Given the description of an element on the screen output the (x, y) to click on. 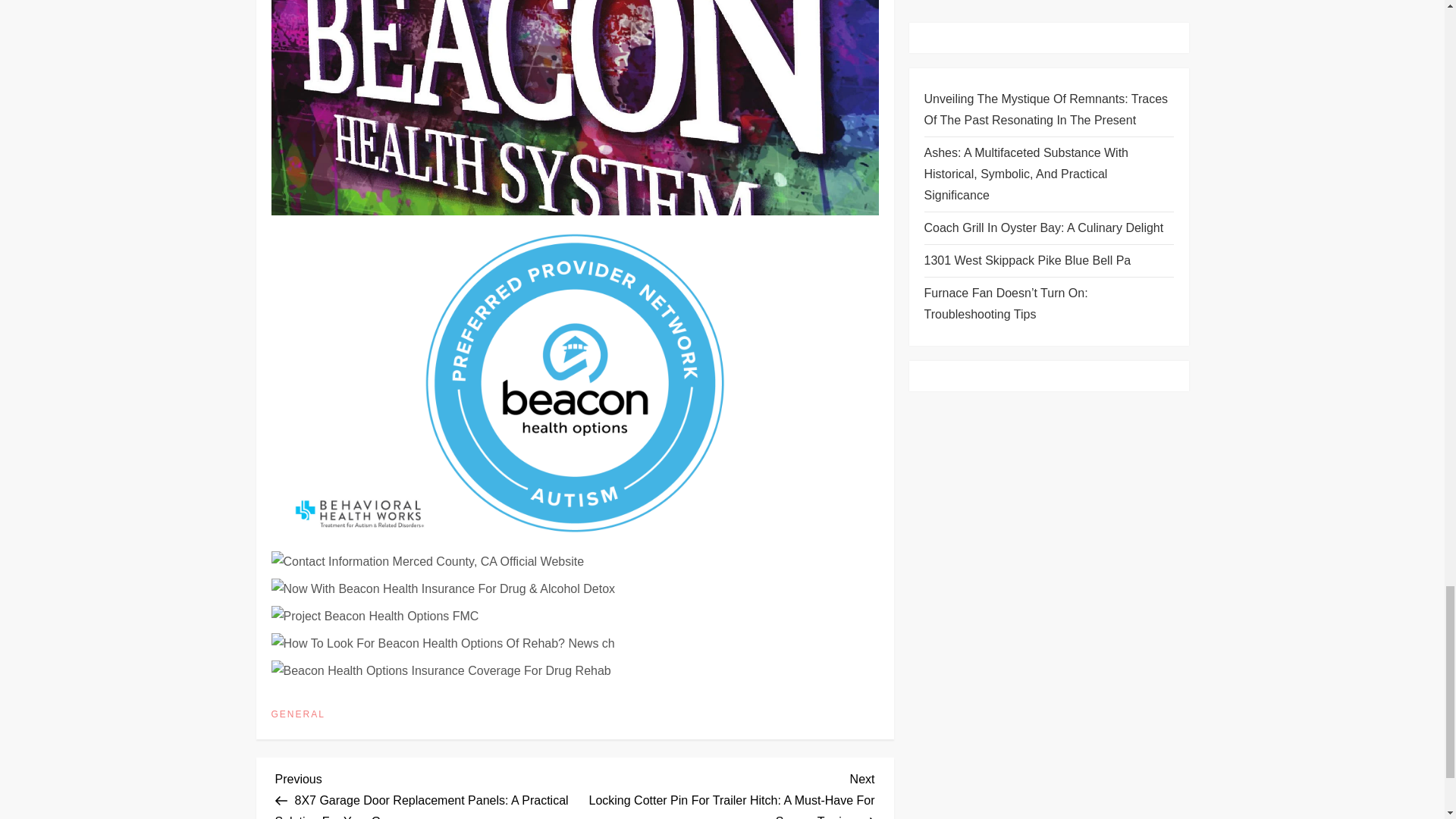
GENERAL (297, 715)
